Given the description of an element on the screen output the (x, y) to click on. 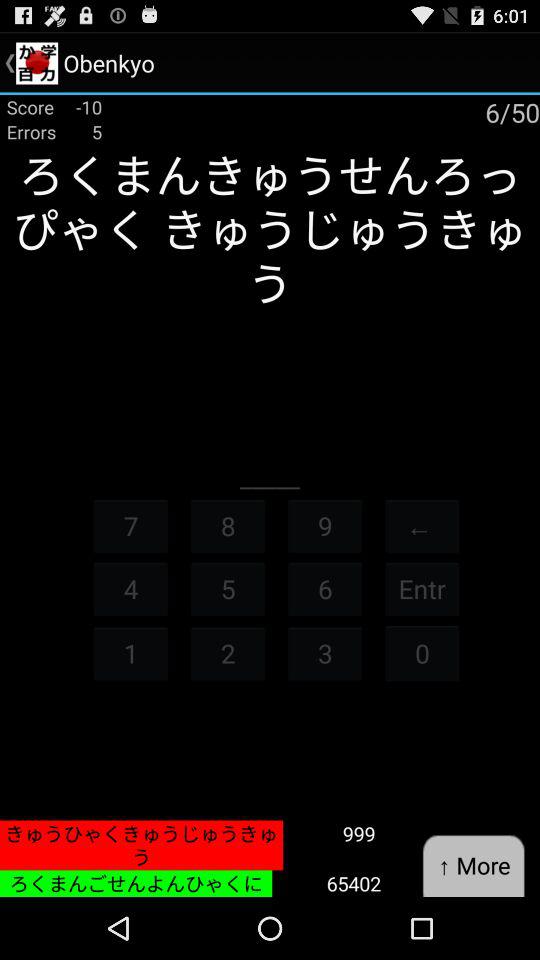
open item next to 5 item (130, 652)
